Given the description of an element on the screen output the (x, y) to click on. 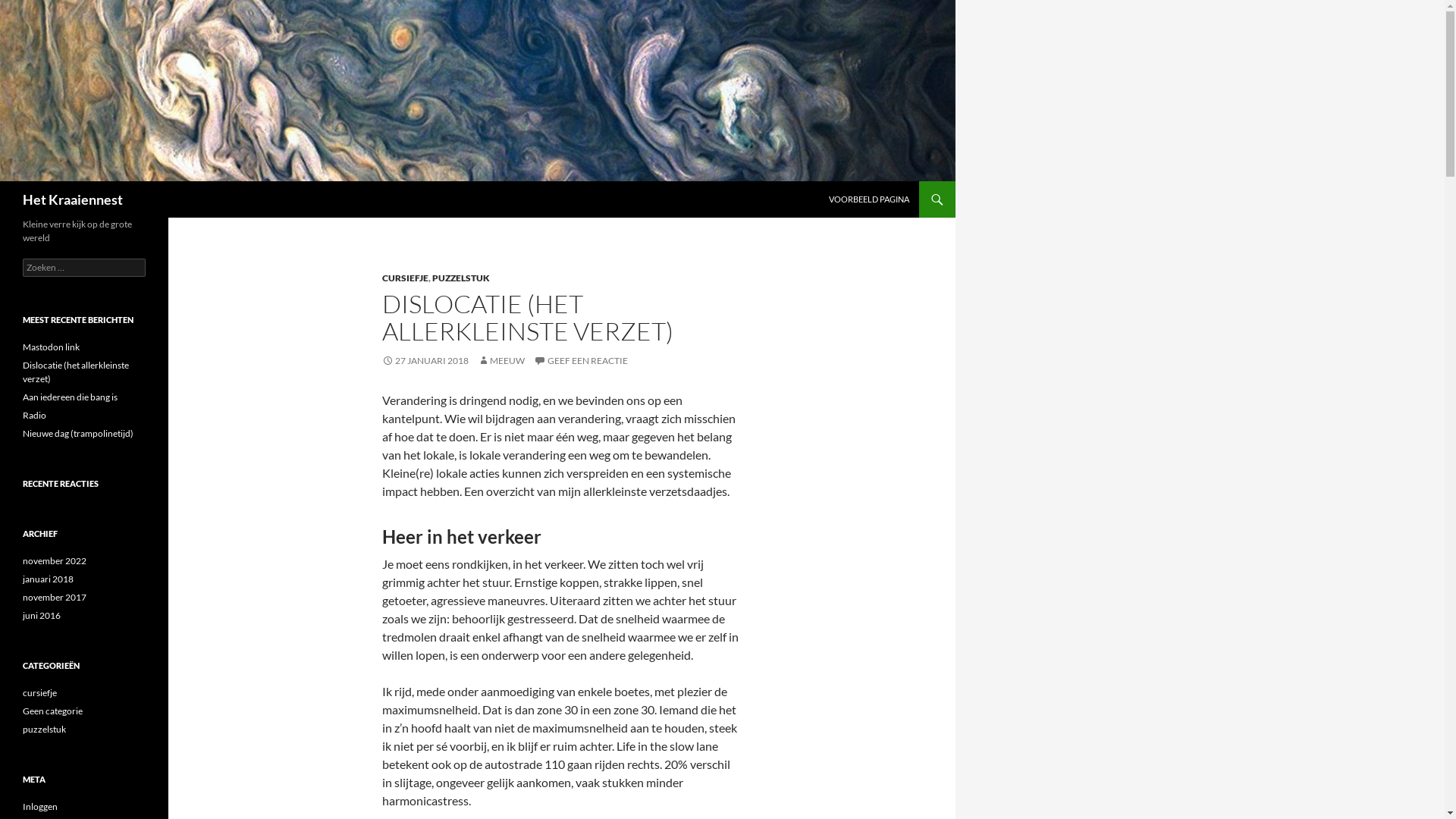
november 2022 Element type: text (54, 560)
Nieuwe dag (trampolinetijd) Element type: text (77, 433)
Dislocatie (het allerkleinste verzet) Element type: text (75, 371)
VOORBEELD PAGINA Element type: text (868, 199)
Radio Element type: text (34, 414)
Mastodon link Element type: text (50, 346)
PUZZELSTUK Element type: text (460, 277)
juni 2016 Element type: text (41, 615)
CURSIEFJE Element type: text (405, 277)
november 2017 Element type: text (54, 596)
puzzelstuk Element type: text (43, 728)
Geen categorie Element type: text (52, 710)
januari 2018 Element type: text (47, 578)
Zoeken Element type: text (3, 181)
Het Kraaiennest Element type: text (72, 199)
Aan iedereen die bang is Element type: text (69, 396)
GEEF EEN REACTIE Element type: text (580, 360)
27 JANUARI 2018 Element type: text (425, 360)
Zoeken Element type: text (29, 9)
MEEUW Element type: text (500, 360)
Inloggen Element type: text (39, 806)
cursiefje Element type: text (39, 692)
NAAR DE INHOUD SPRINGEN Element type: text (828, 181)
